Given the description of an element on the screen output the (x, y) to click on. 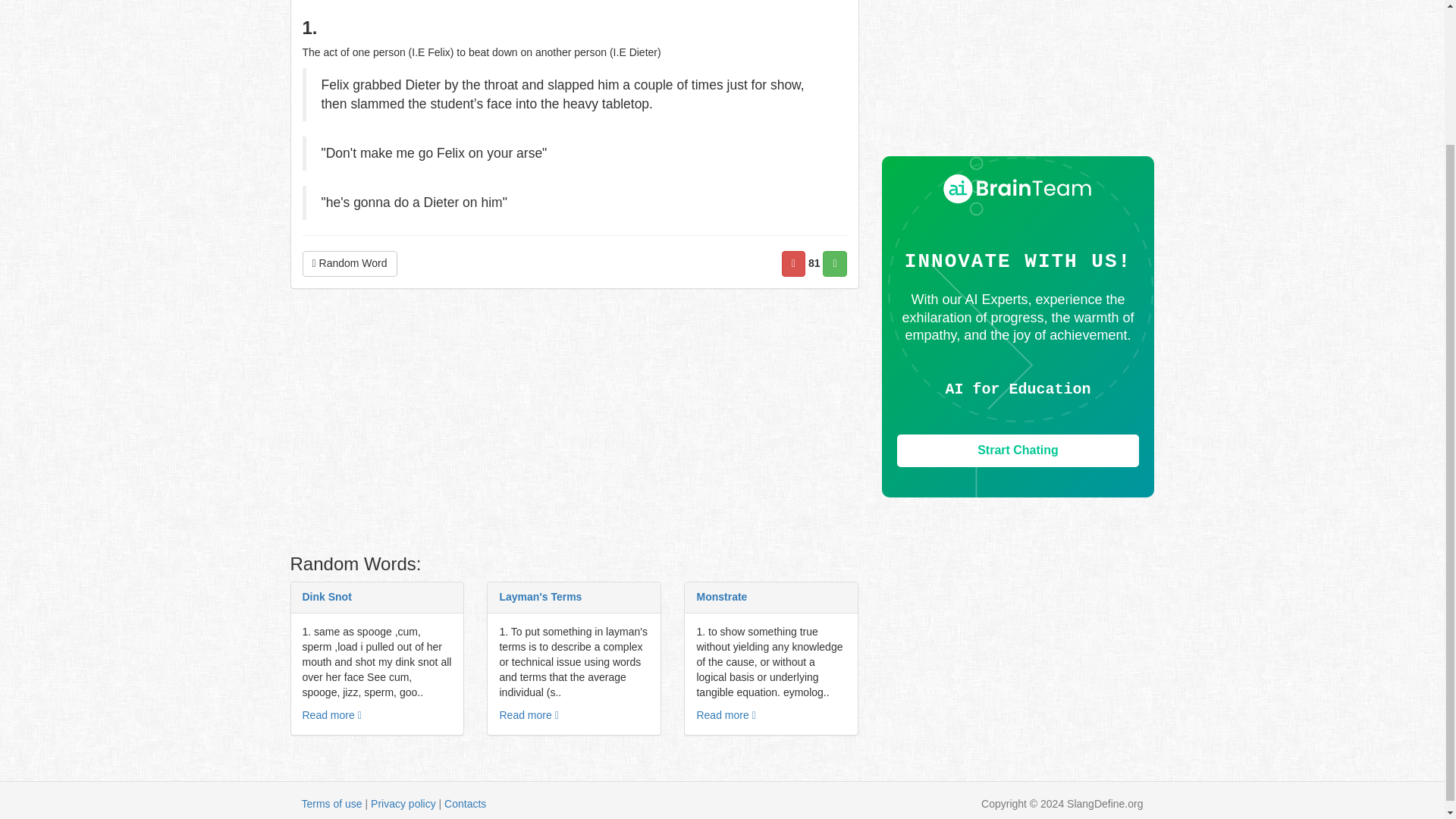
Advertisement (574, 425)
Privacy policy (403, 803)
Strart Chating (1017, 450)
Contacts (465, 803)
Dink Snot (325, 596)
Random Word (348, 263)
Read more (528, 715)
Terms of use (331, 803)
Monstrate (720, 596)
Advertisement (1017, 78)
Layman's Terms (539, 596)
Read more (725, 715)
Read more (331, 715)
